Given the description of an element on the screen output the (x, y) to click on. 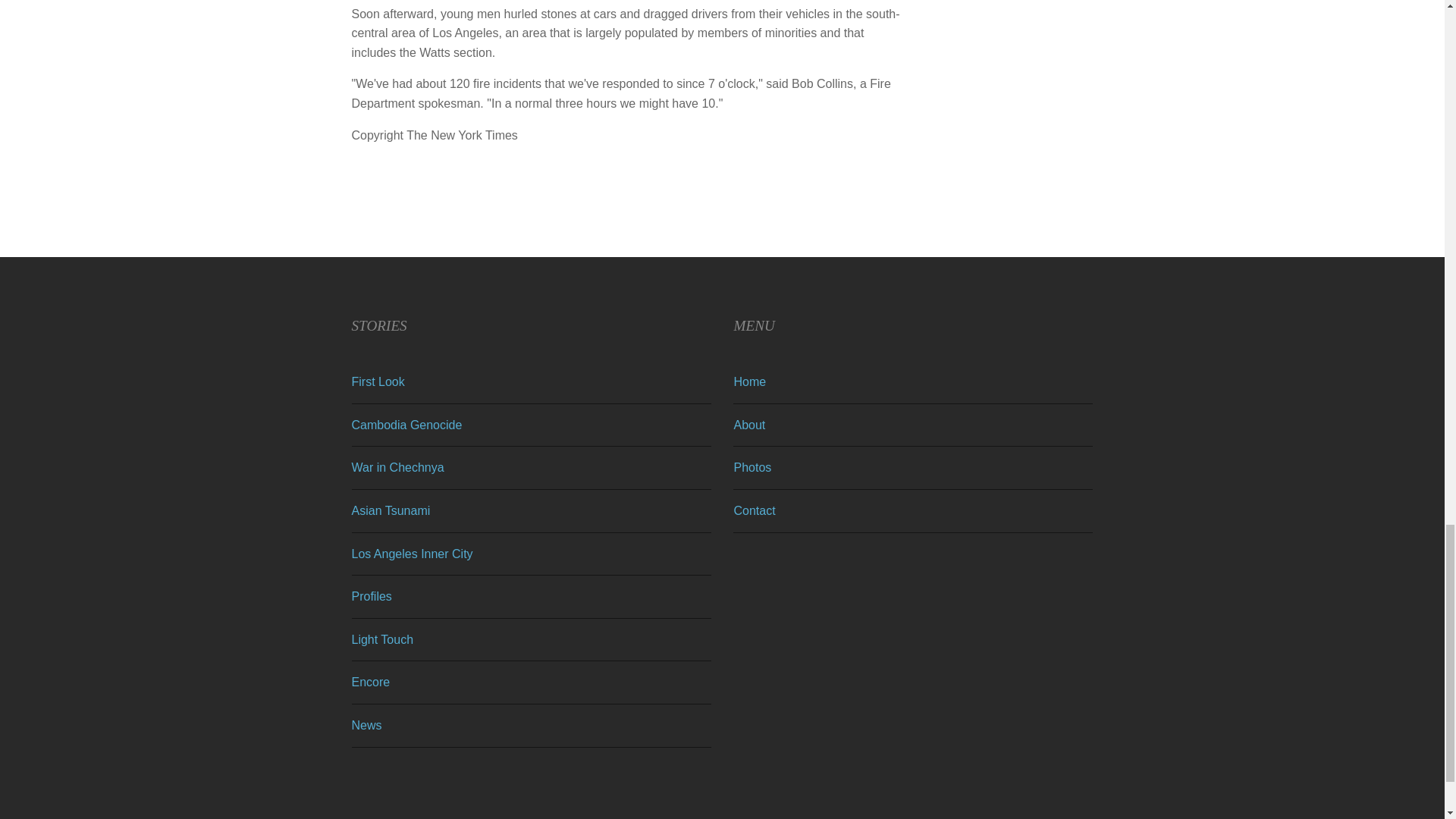
Asian Tsunami (391, 510)
Home (749, 381)
Contact (753, 510)
Cambodia Genocide (407, 424)
First Look (378, 381)
Los Angeles Inner City (412, 553)
Profiles (371, 595)
War in Chechnya (398, 467)
About (749, 424)
Encore (371, 681)
Light Touch (382, 639)
Photos (752, 467)
News (366, 725)
